Given the description of an element on the screen output the (x, y) to click on. 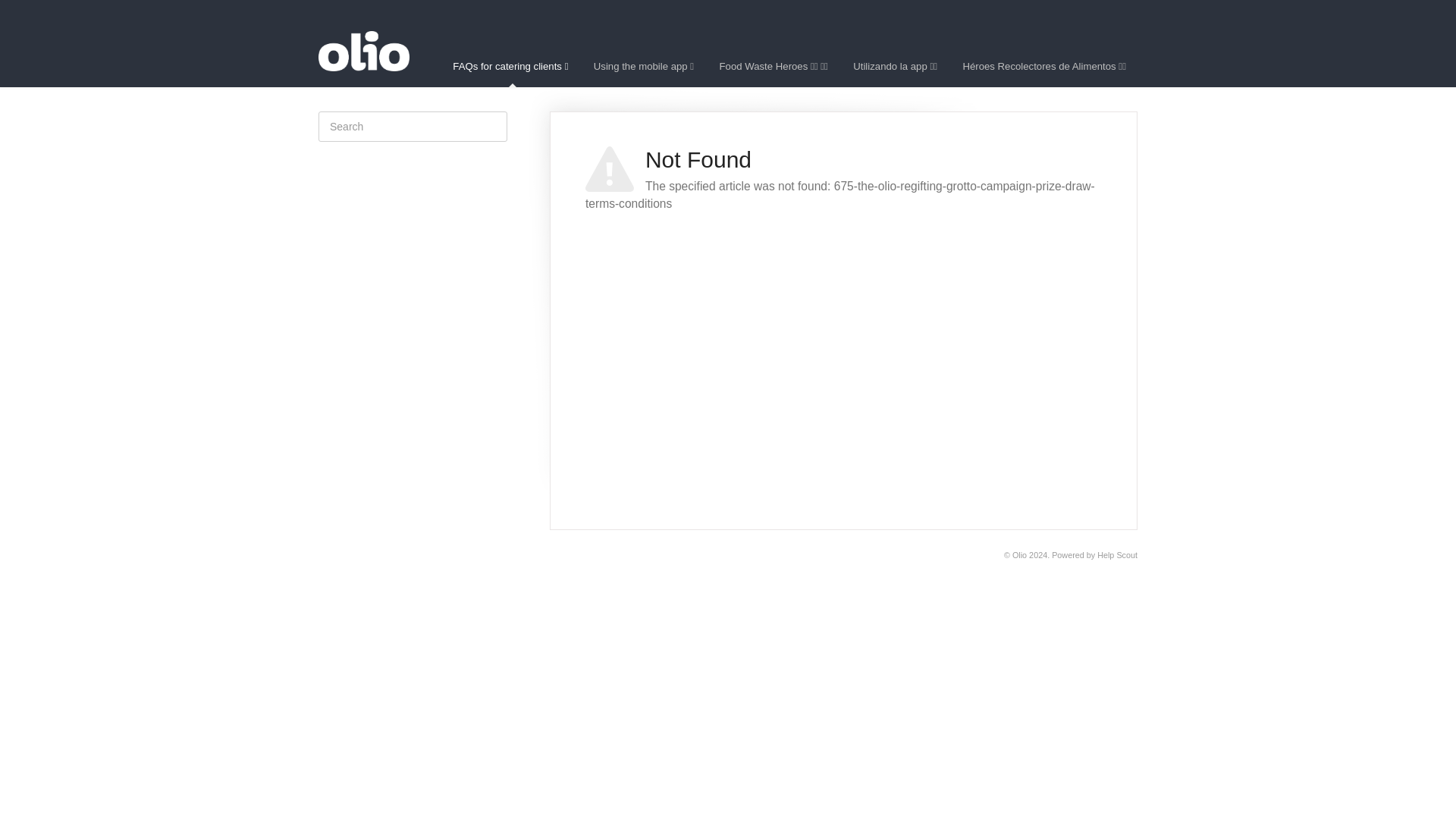
Help Scout (1117, 554)
Olio (1018, 554)
search-query (412, 126)
